Given the description of an element on the screen output the (x, y) to click on. 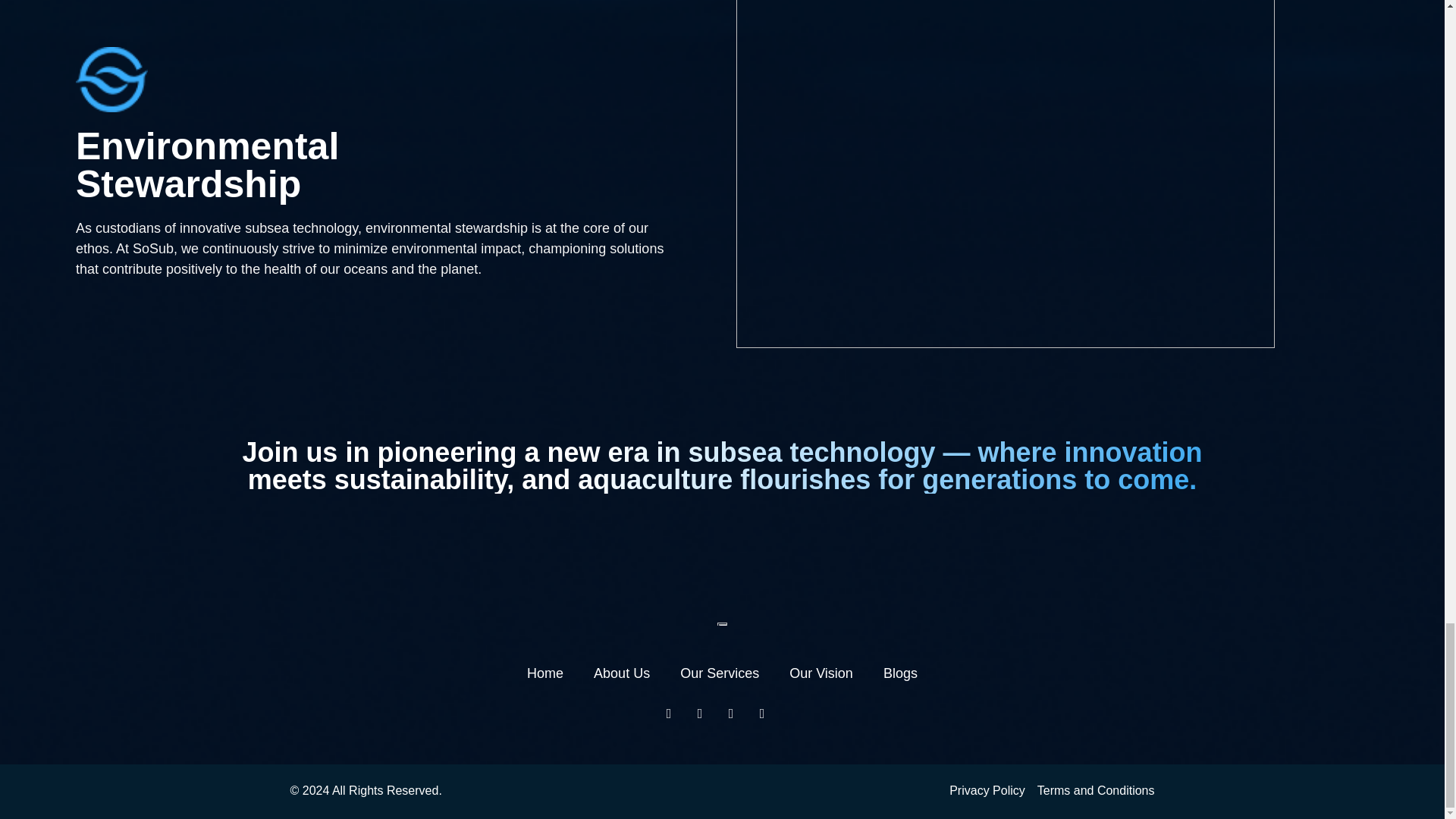
Home (545, 673)
Our Vision (821, 673)
Our Services (718, 673)
Blogs (900, 673)
About Us (621, 673)
